Given the description of an element on the screen output the (x, y) to click on. 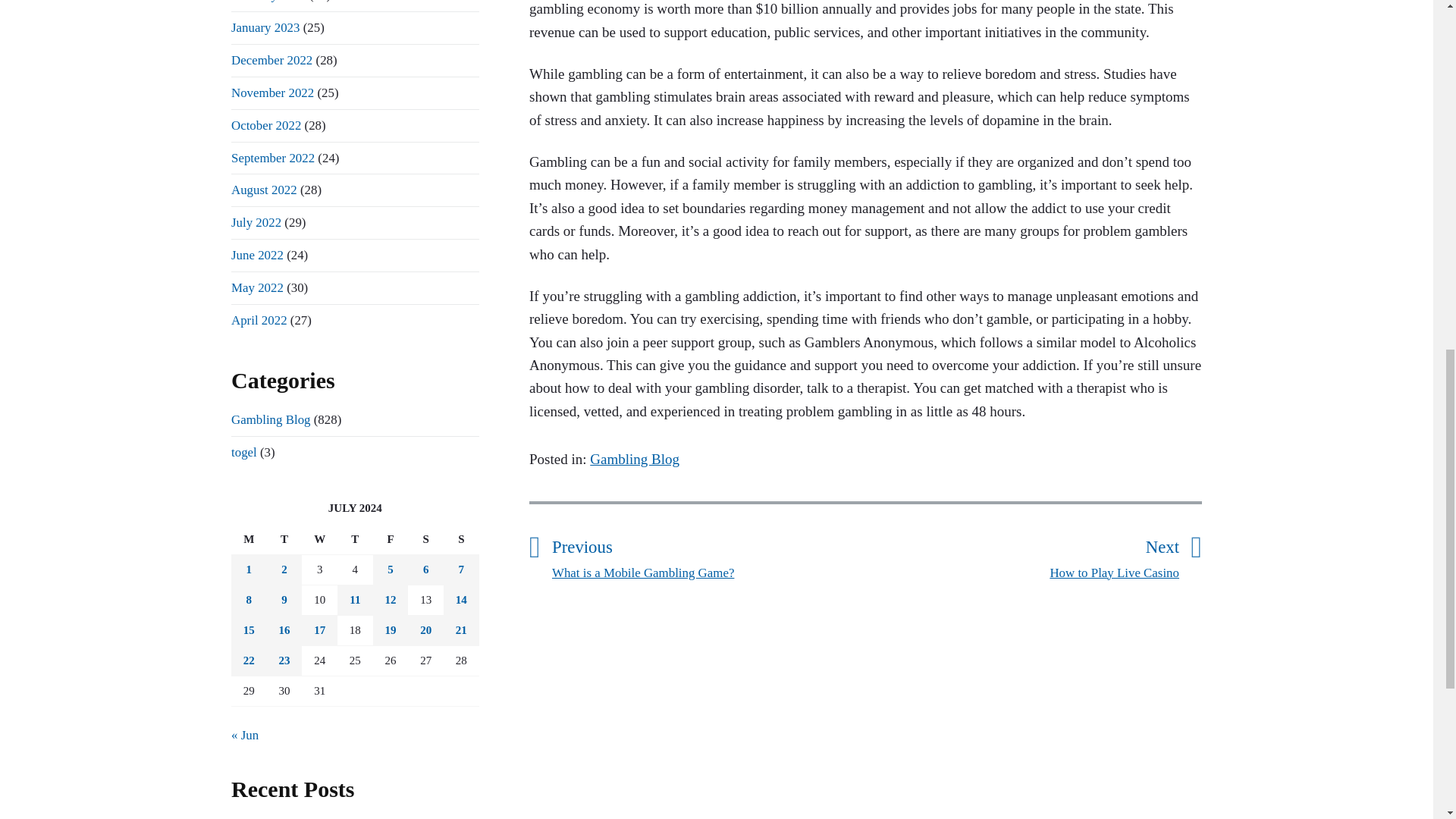
January 2023 (265, 27)
Tuesday (284, 539)
August 2022 (264, 189)
Saturday (1022, 555)
July 2022 (425, 539)
April 2022 (256, 222)
November 2022 (258, 319)
September 2022 (272, 92)
February 2023 (272, 156)
December 2022 (708, 555)
Wednesday (268, 1)
Monday (272, 60)
October 2022 (319, 539)
